Given the description of an element on the screen output the (x, y) to click on. 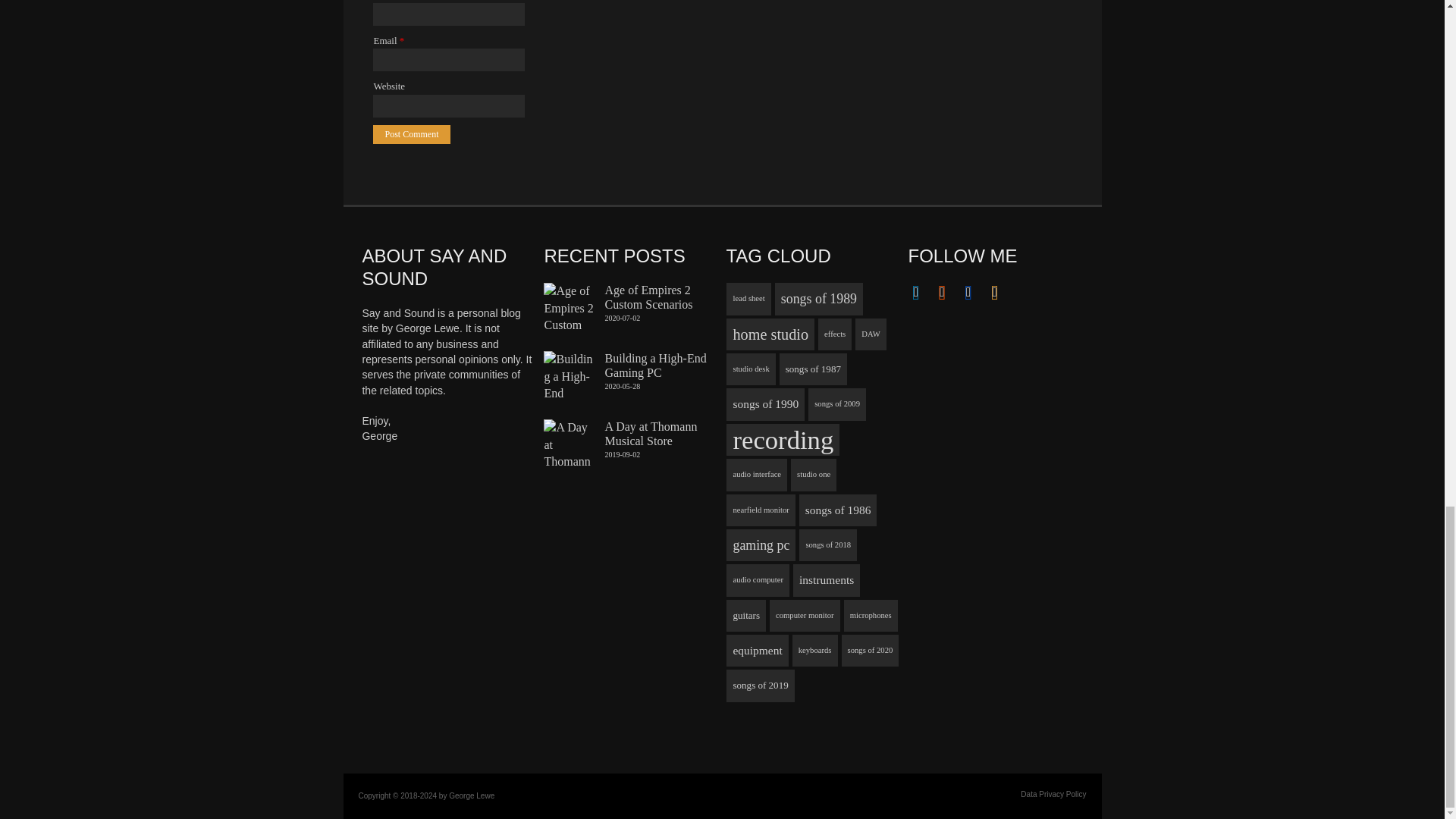
Post Comment (410, 134)
